Given the description of an element on the screen output the (x, y) to click on. 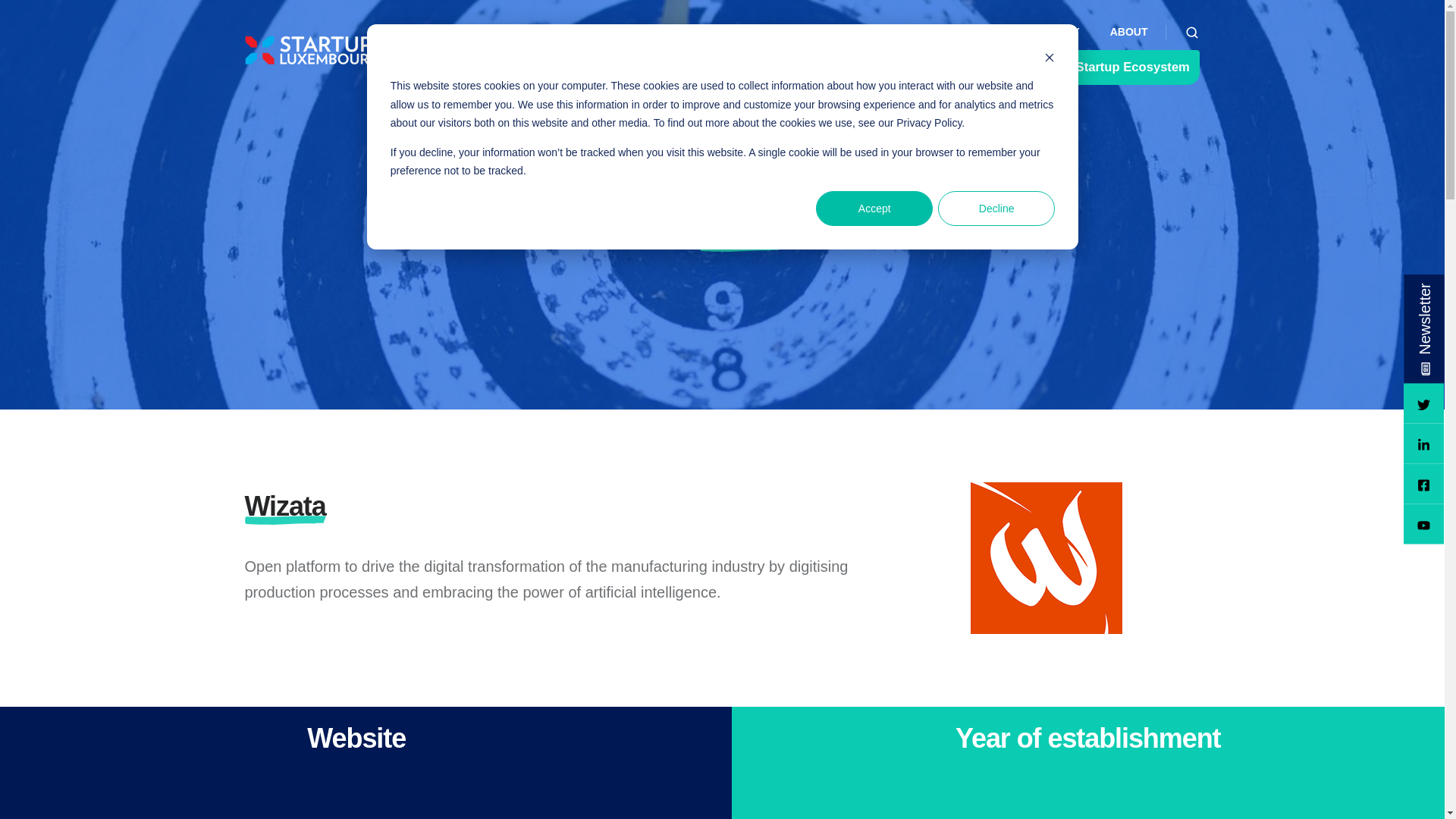
STARTUP COMMUNITY (1021, 32)
WHY LUXEMBOURG (879, 32)
ABOUT (1128, 32)
Startup Ecosystem (1125, 67)
Contact us (998, 67)
logo-start-white (311, 50)
YOUR STARTUP JOURNEY (727, 32)
